Given the description of an element on the screen output the (x, y) to click on. 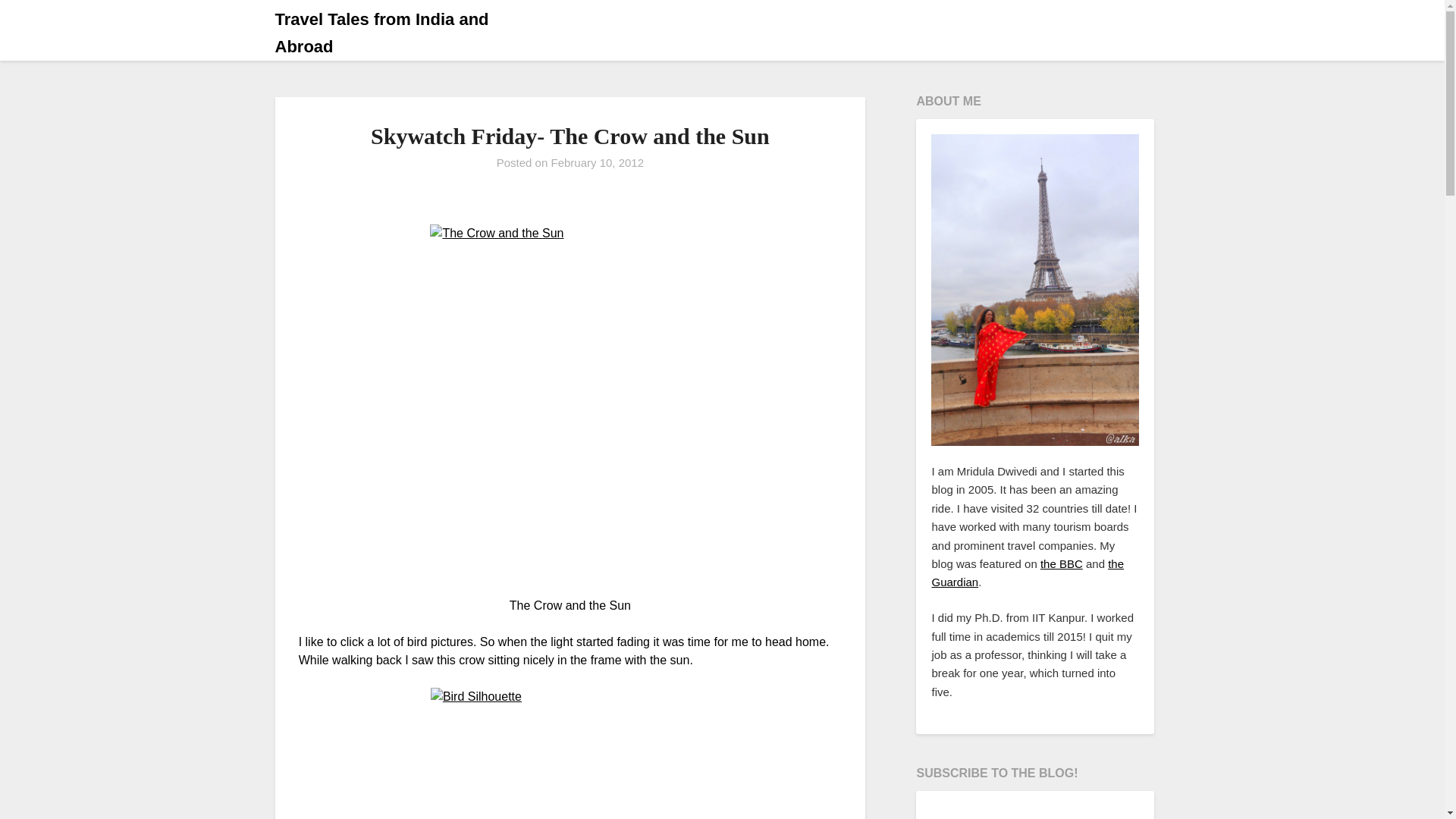
Travel Tales from India and Abroad (409, 32)
February 10, 2012 (596, 162)
